Given the description of an element on the screen output the (x, y) to click on. 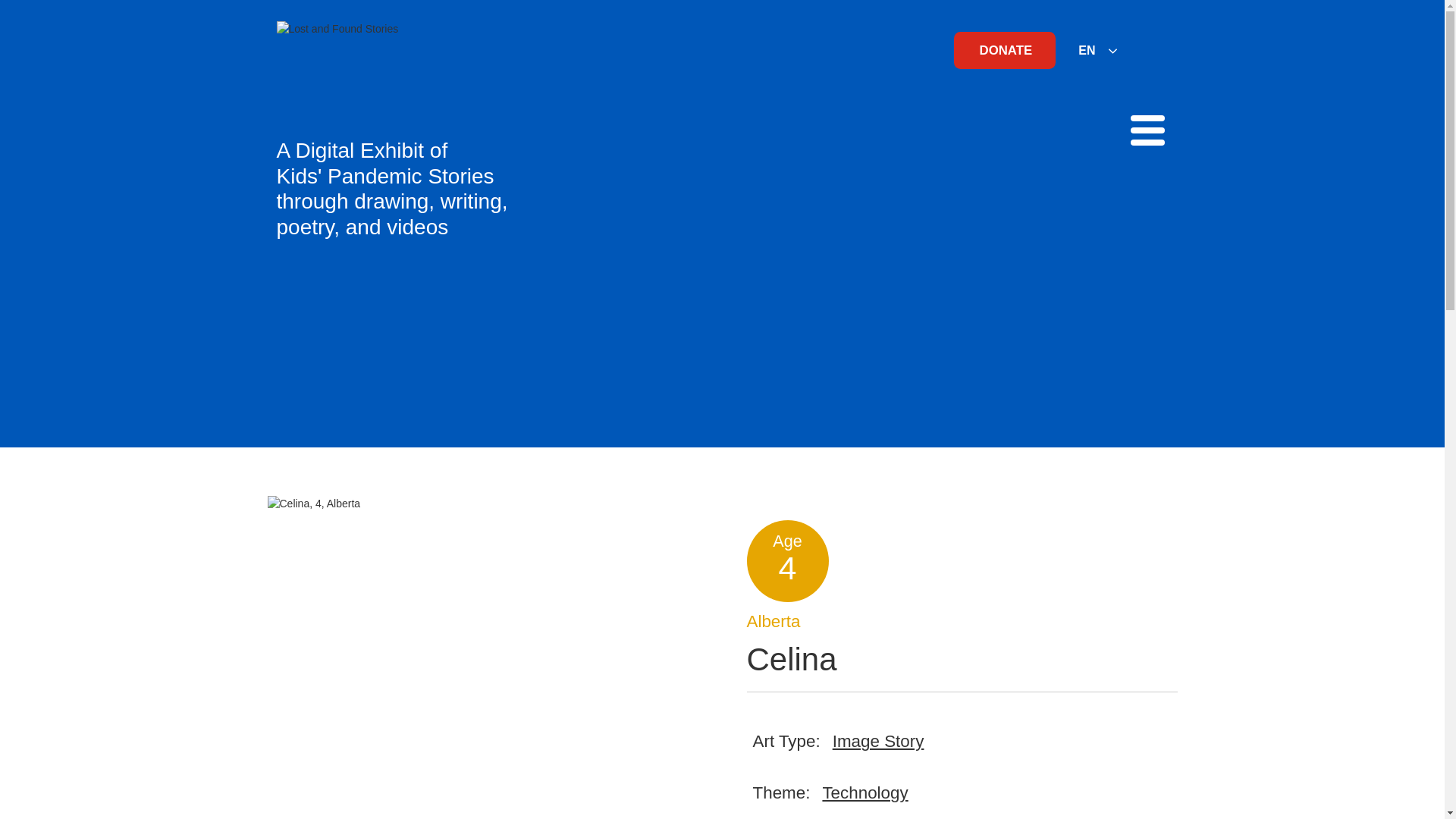
DONATE (1004, 49)
Technology (864, 792)
EN (1097, 50)
Image Story (878, 741)
